Given the description of an element on the screen output the (x, y) to click on. 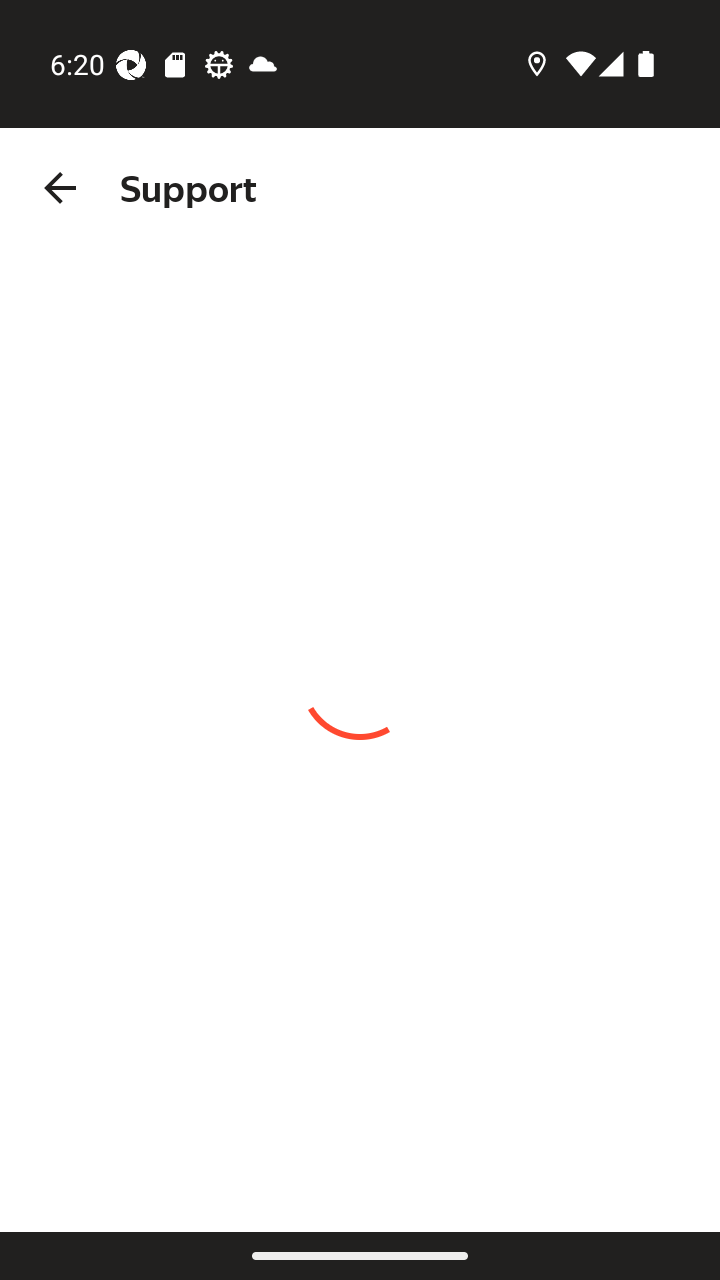
Back Support (360, 188)
Back (60, 188)
